Given the description of an element on the screen output the (x, y) to click on. 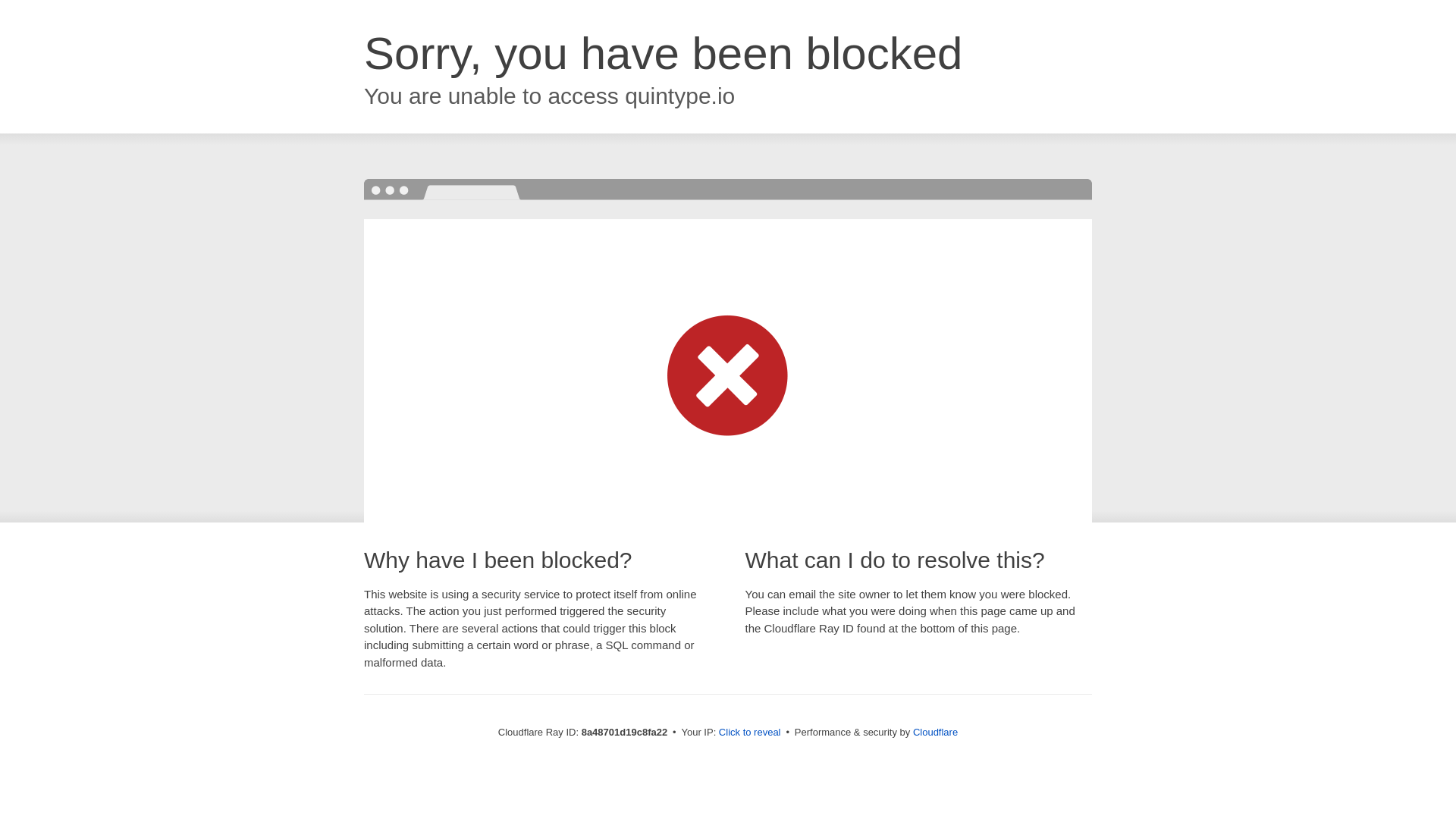
Cloudflare (935, 731)
Click to reveal (749, 732)
